Given the description of an element on the screen output the (x, y) to click on. 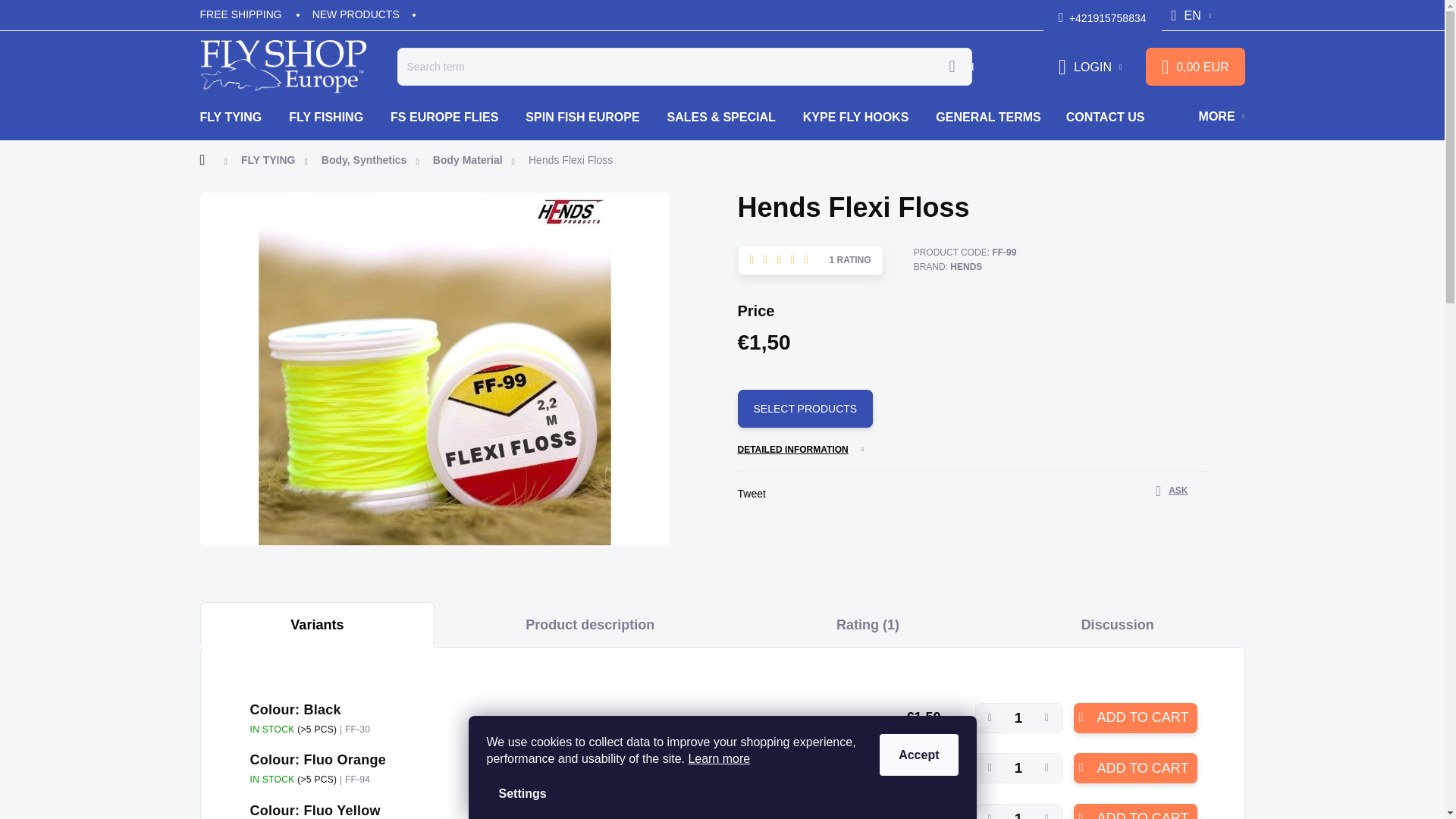
SEARCH (952, 66)
FREE SHIPPING (248, 14)
FLY TYING (238, 117)
NEW PRODUCTS (355, 14)
1 (1194, 66)
1 (1018, 811)
Speak to a sales advisor (1018, 767)
LOGIN (1172, 490)
1 (1090, 66)
